Given the description of an element on the screen output the (x, y) to click on. 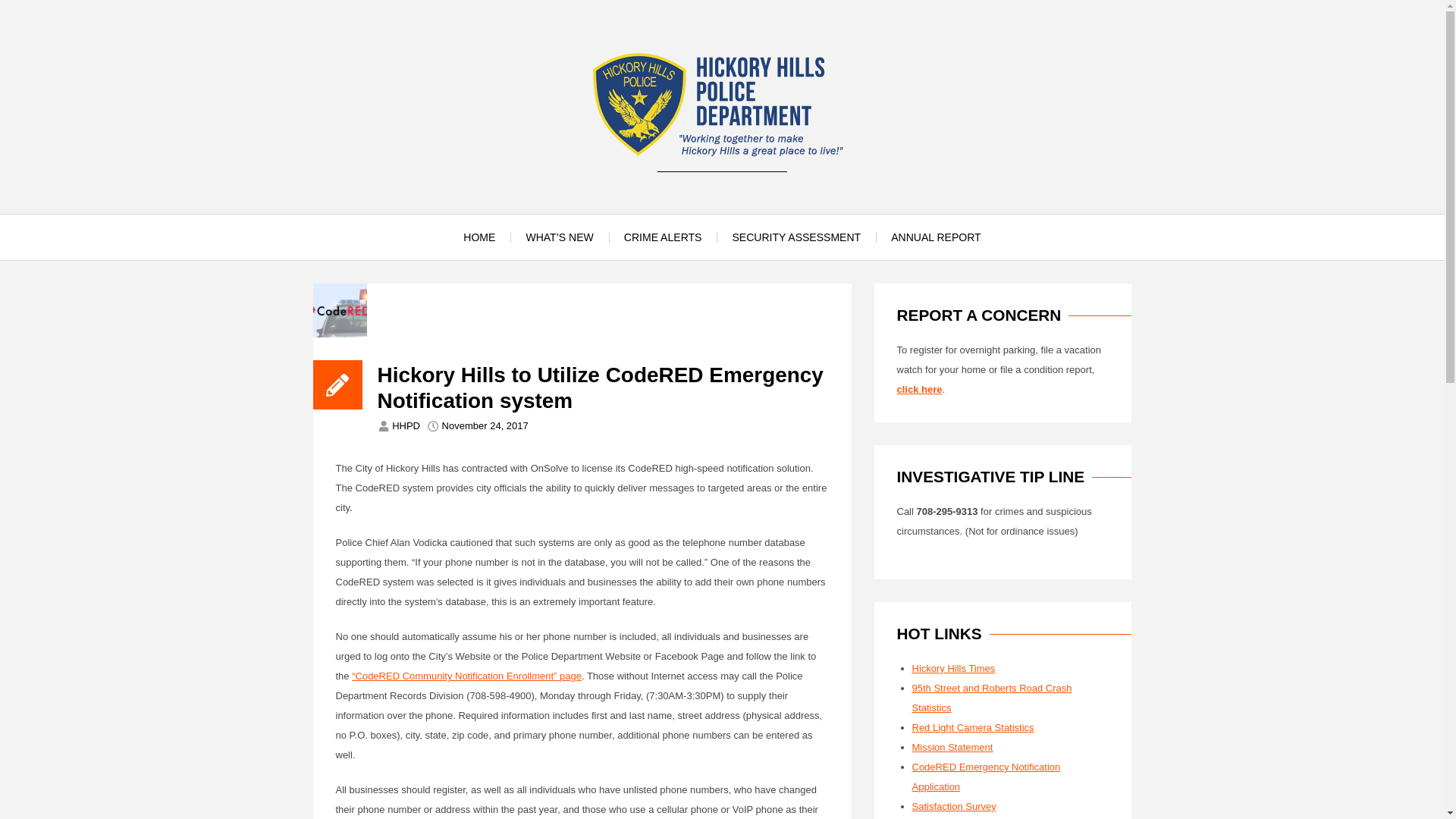
SECURITY ASSESSMENT (796, 237)
Hickory Hills Times (952, 668)
HOME (479, 237)
Satisfaction Survey (953, 806)
Red Light Camera Statistics (972, 727)
95th Street and Roberts Road Crash Statistics (991, 697)
ANNUAL REPORT (935, 237)
Mission Statement (951, 747)
HHPD (405, 425)
CodeRED Emergency Notification Application (985, 776)
November 24, 2017 (485, 425)
click here (919, 389)
CRIME ALERTS (662, 237)
